Given the description of an element on the screen output the (x, y) to click on. 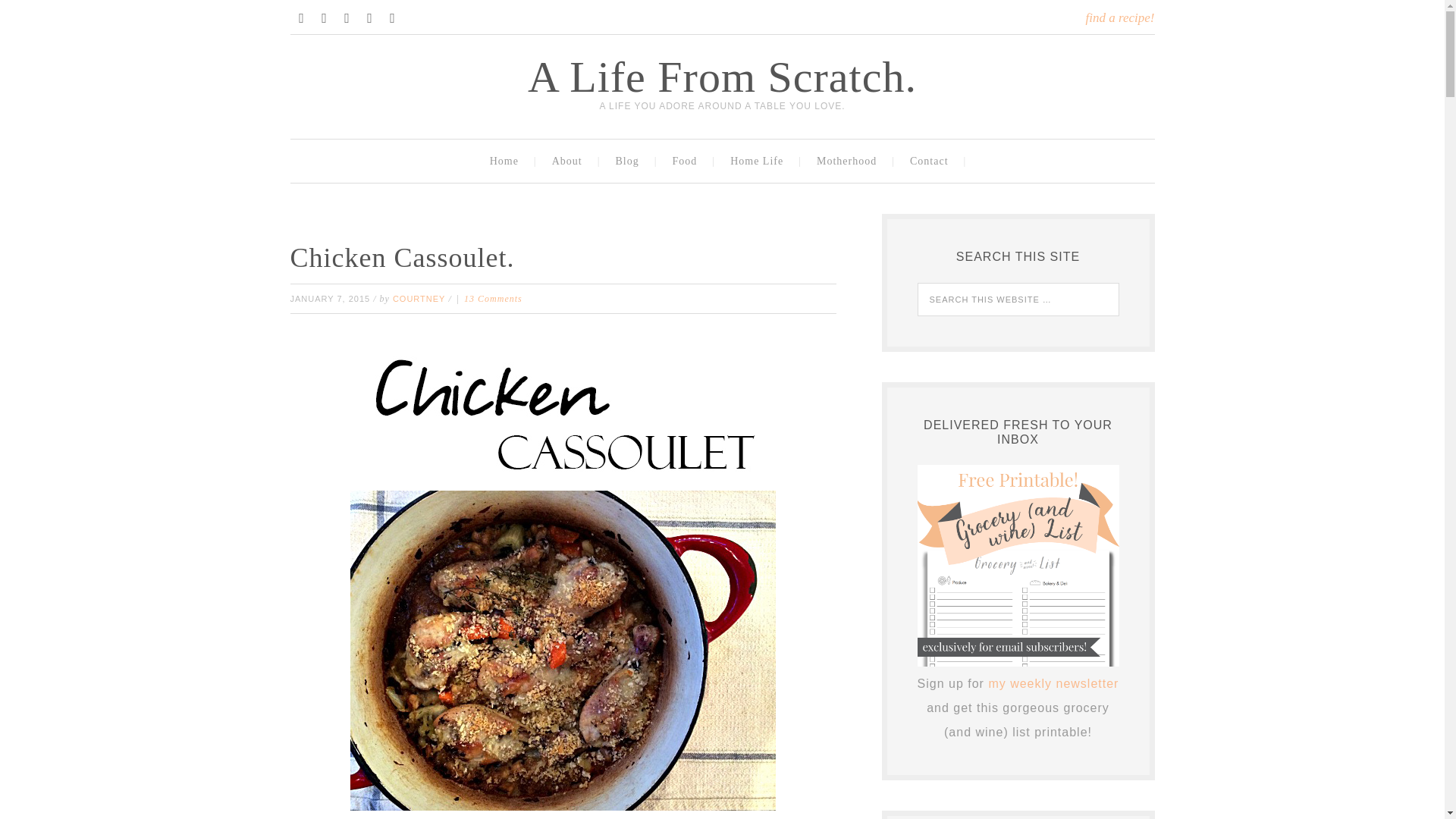
Home Life (760, 160)
Blog (630, 160)
13 Comments (493, 298)
Contact (932, 160)
Food (688, 160)
COURTNEY (419, 298)
find a recipe! (1120, 17)
A Life From Scratch. (722, 76)
About (569, 160)
Home (508, 160)
Motherhood (850, 160)
